Given the description of an element on the screen output the (x, y) to click on. 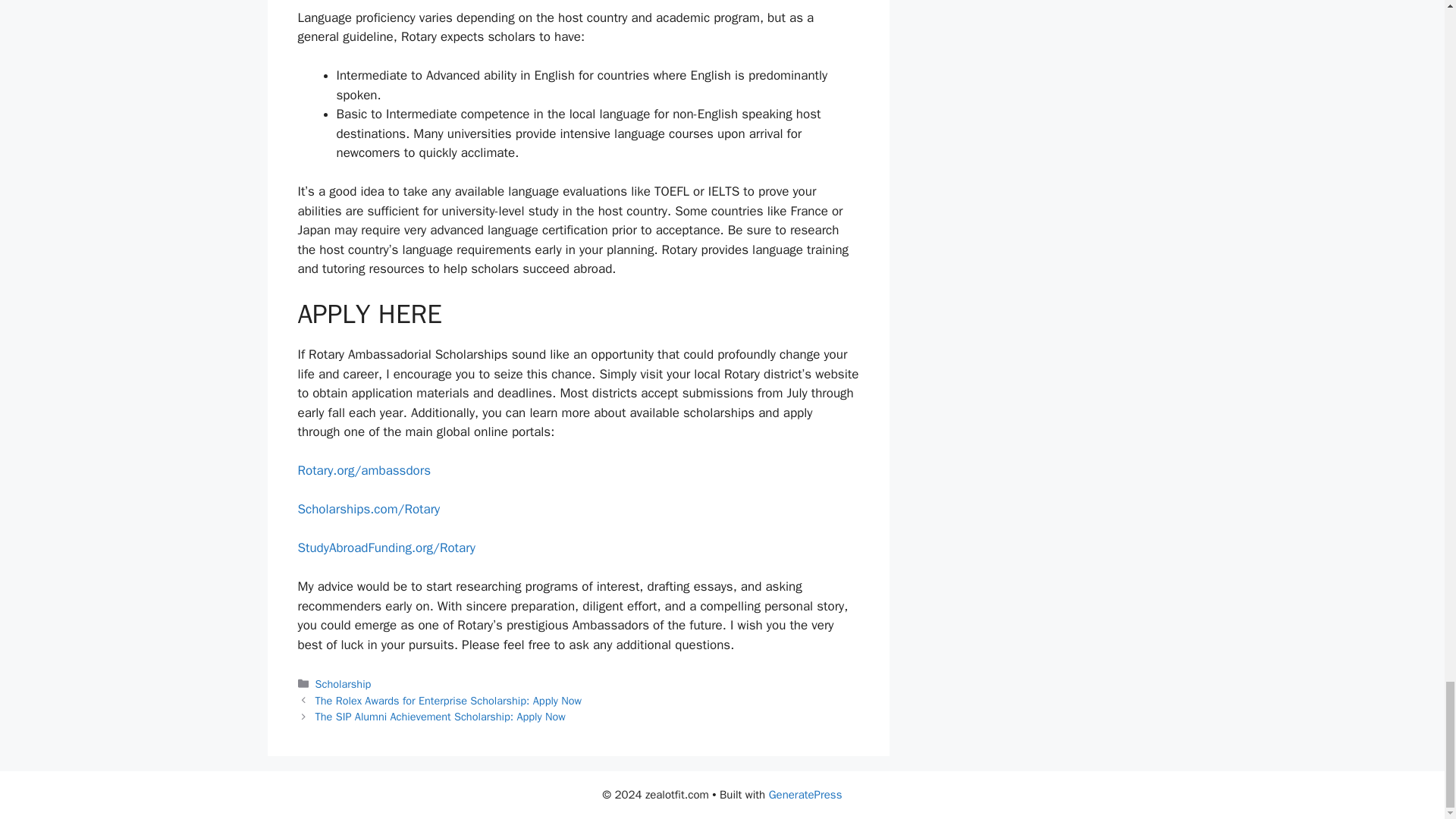
GeneratePress (805, 794)
The SIP Alumni Achievement Scholarship: Apply Now (440, 716)
Scholarship (343, 684)
The Rolex Awards for Enterprise Scholarship: Apply Now (447, 700)
